Given the description of an element on the screen output the (x, y) to click on. 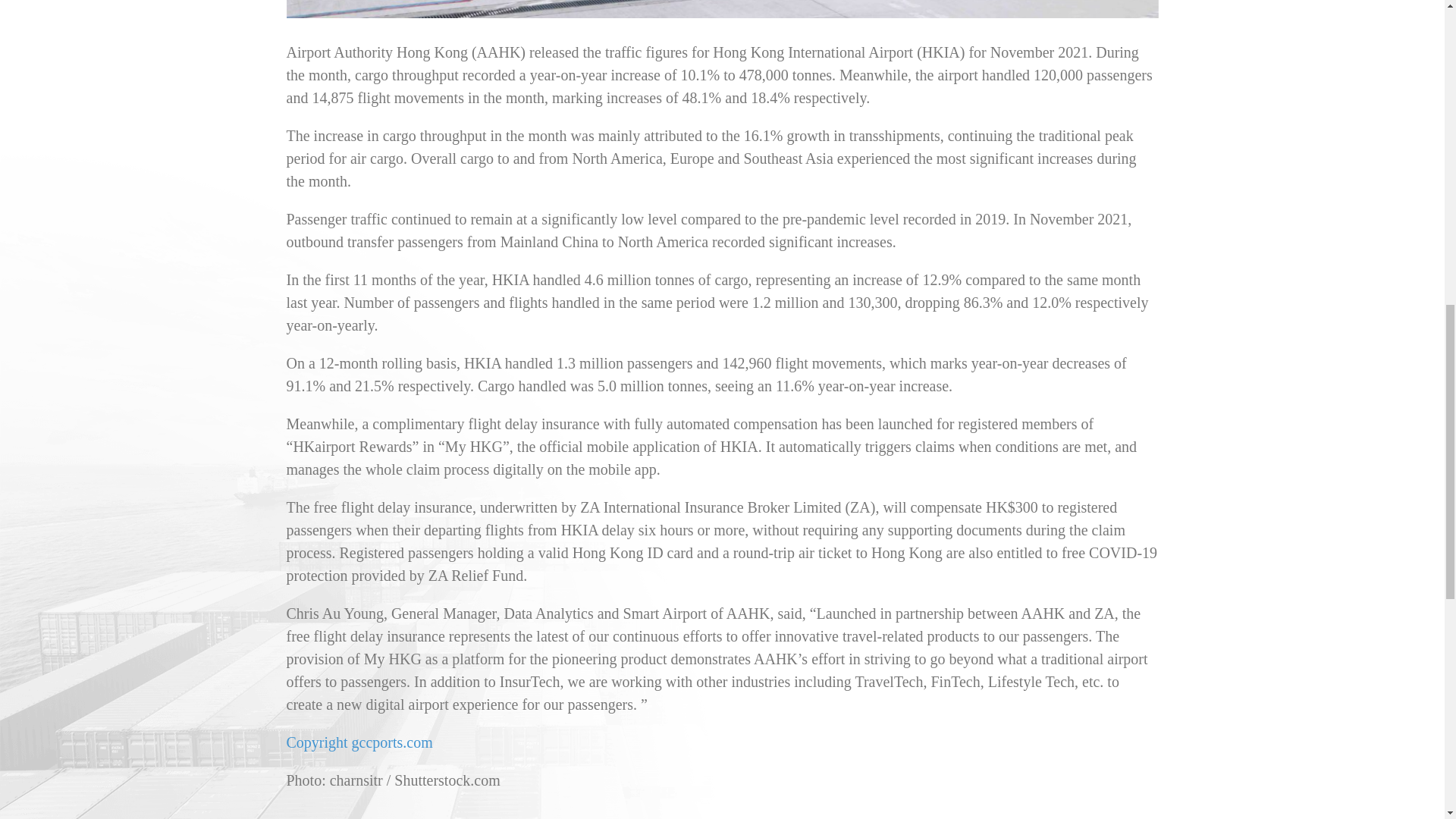
HKIA cargo volume continues to grow in November (722, 9)
Copyright gccports.com (359, 742)
View Larger Image (722, 9)
